Given the description of an element on the screen output the (x, y) to click on. 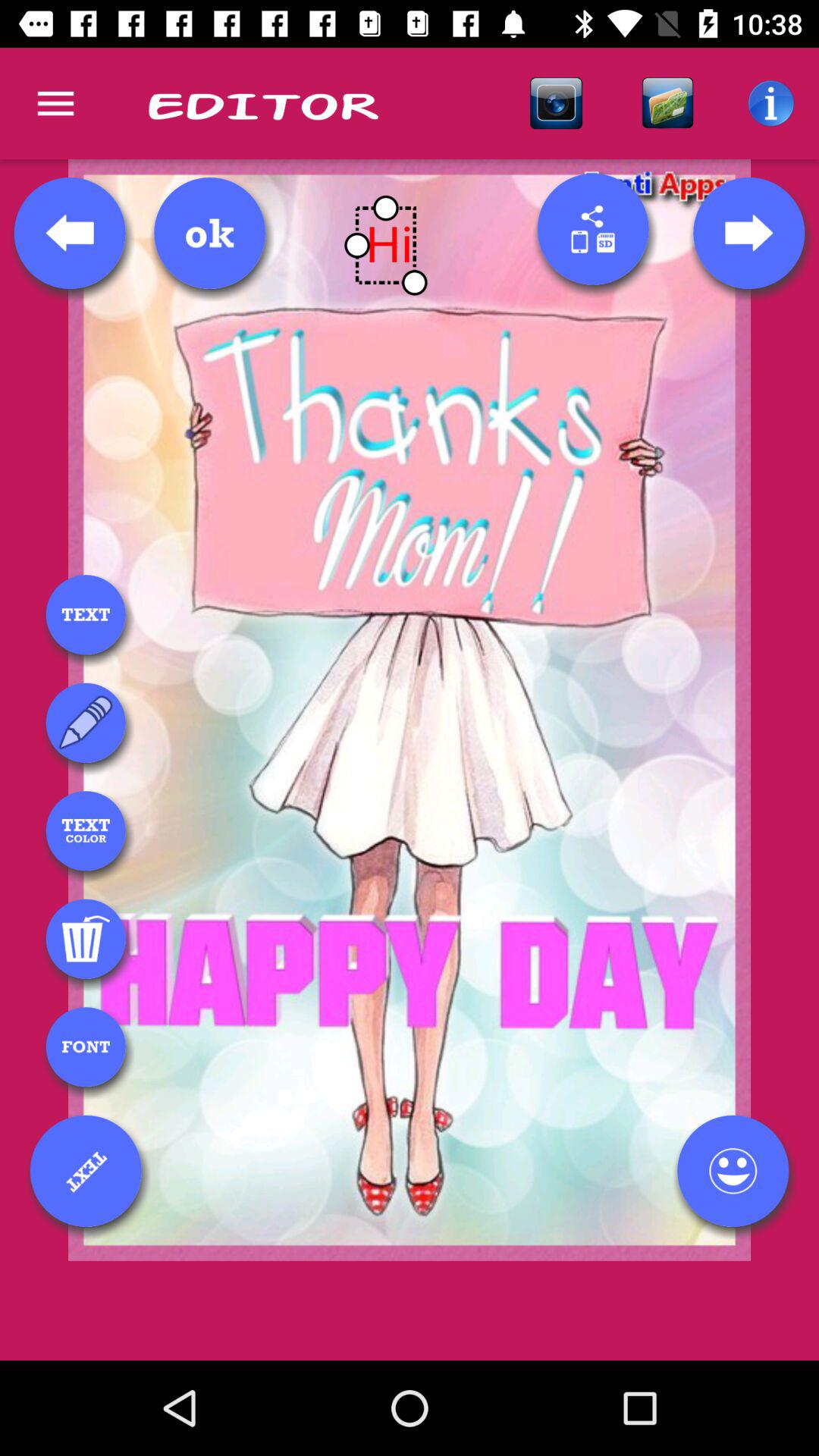
toggle pen (85, 722)
